Given the description of an element on the screen output the (x, y) to click on. 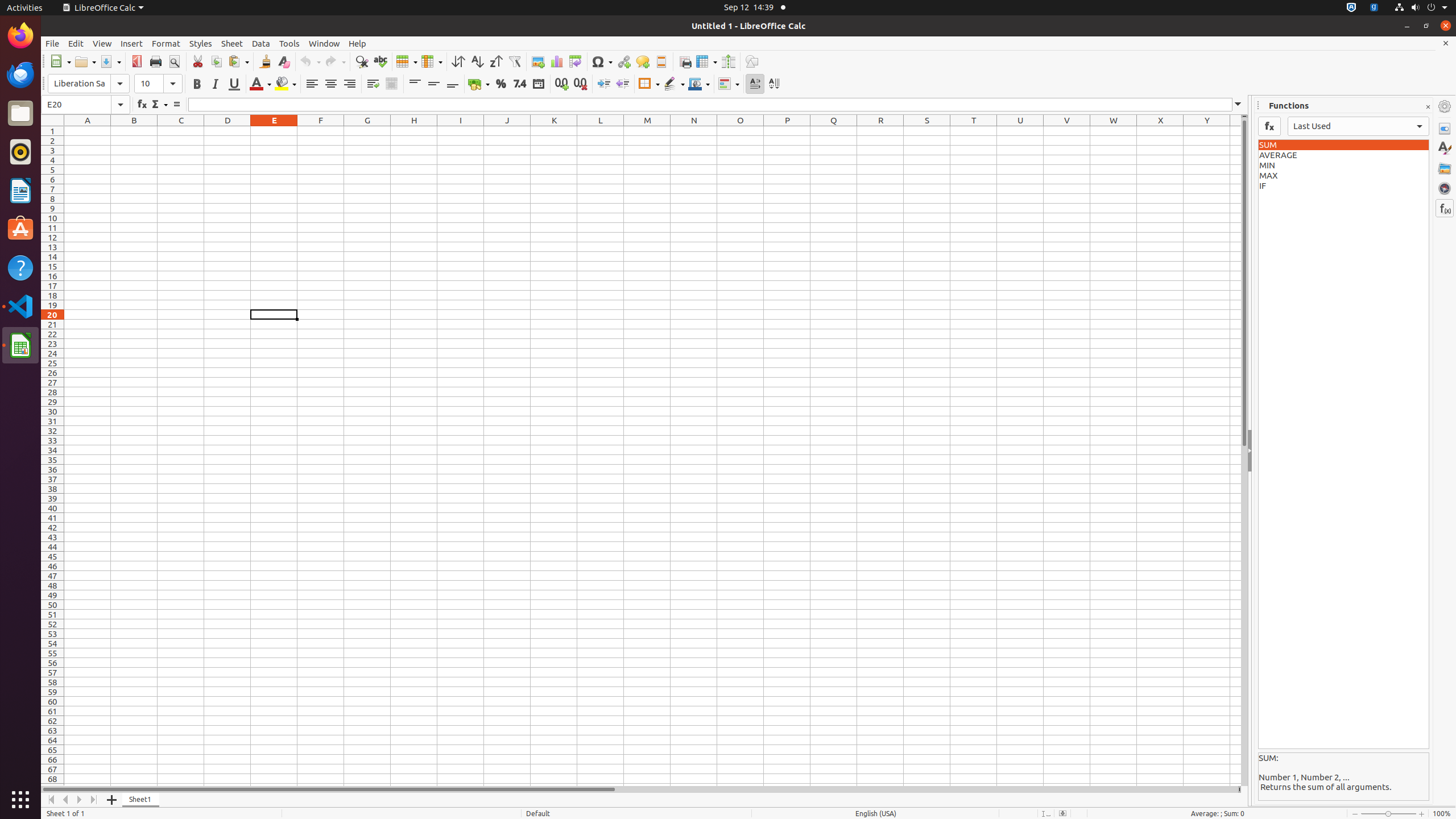
Decrease Element type: push-button (622, 83)
Center Vertically Element type: push-button (433, 83)
AutoFilter Element type: push-button (514, 61)
Freeze Rows and Columns Element type: push-button (705, 61)
Hyperlink Element type: toggle-button (623, 61)
